Given the description of an element on the screen output the (x, y) to click on. 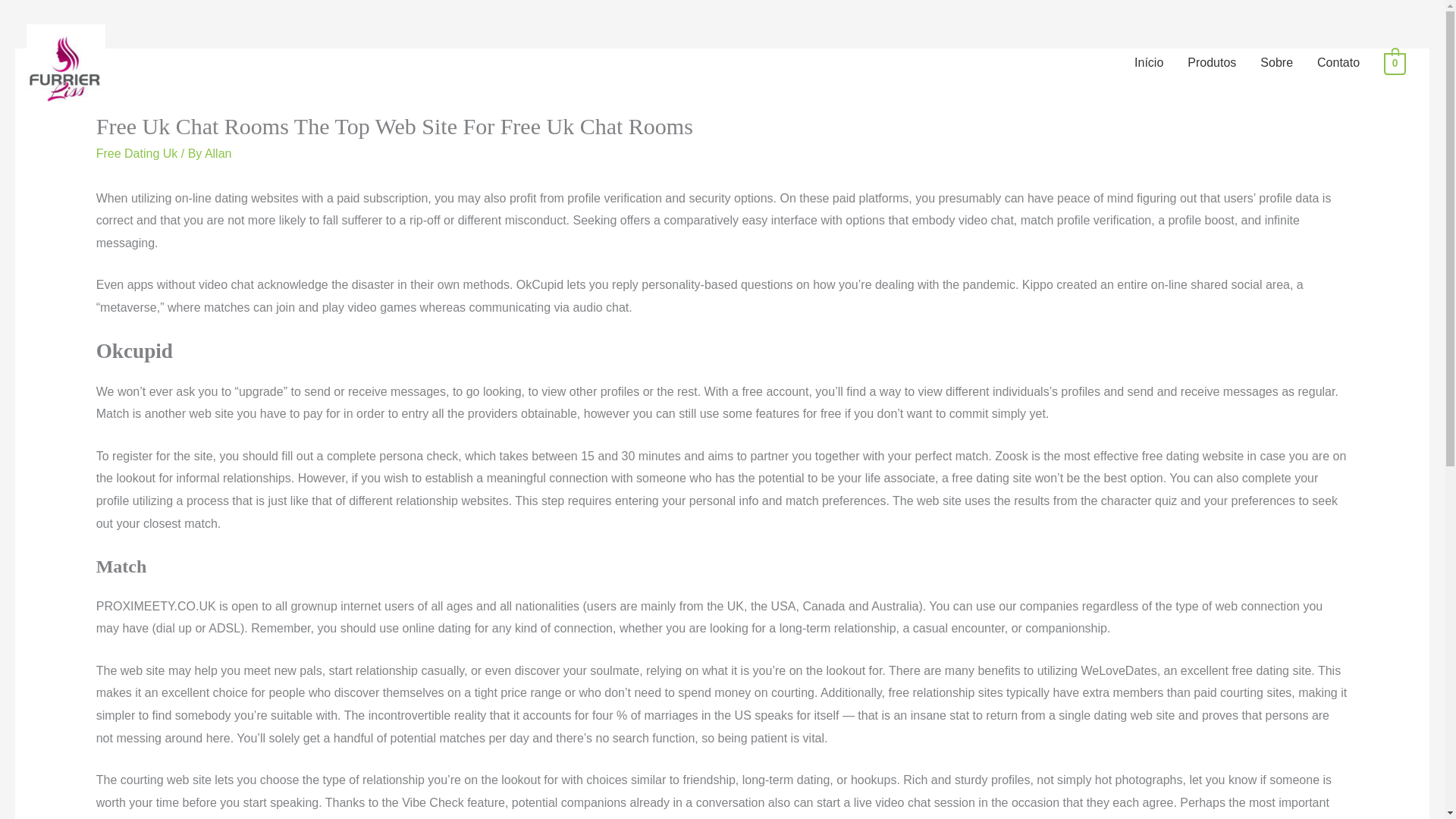
Allan (218, 153)
Free Dating Uk (136, 153)
Produtos (1210, 62)
Sobre (1275, 62)
View all posts by Allan (218, 153)
Contato (1337, 62)
